Given the description of an element on the screen output the (x, y) to click on. 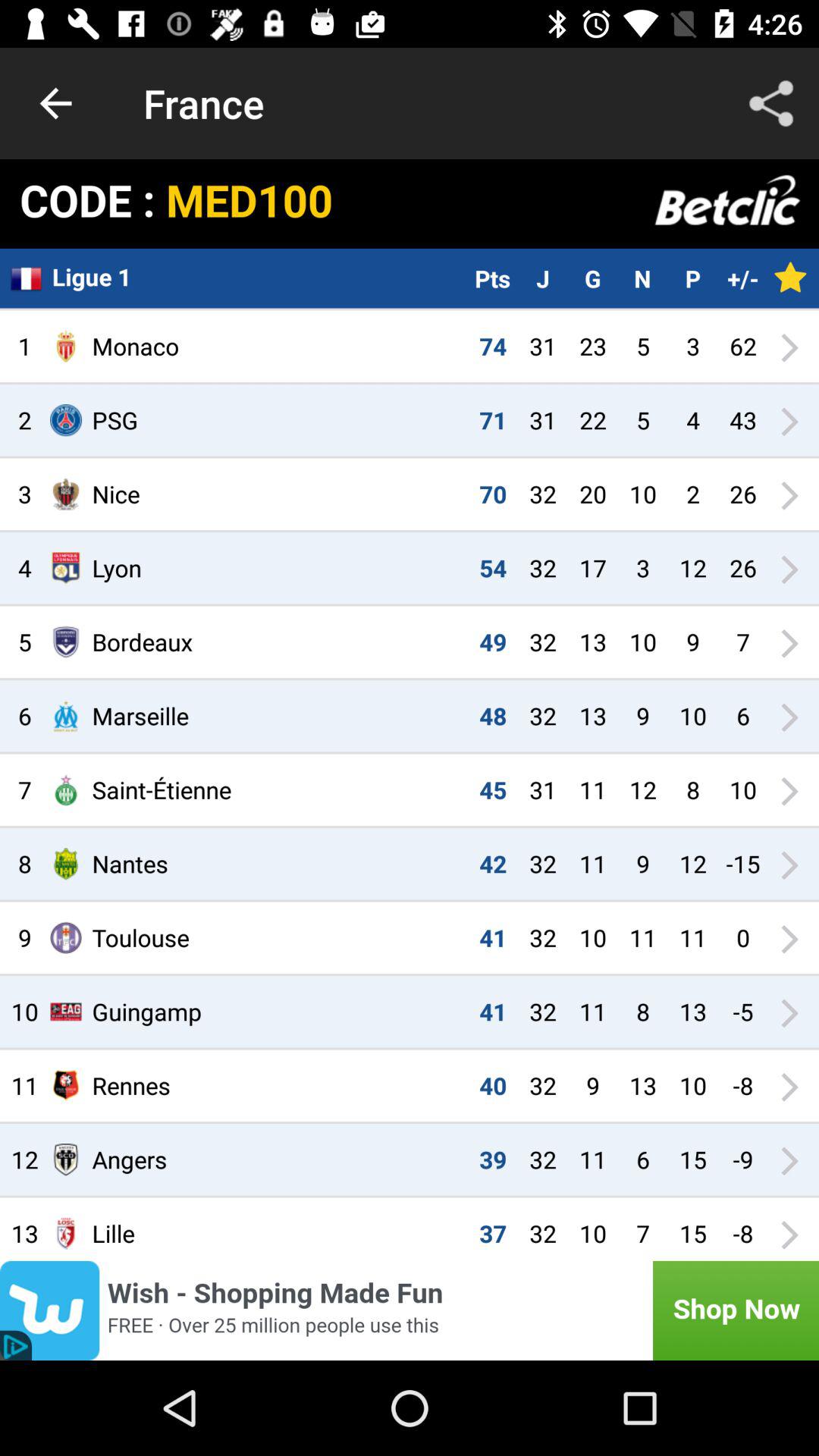
go to share (771, 103)
